Given the description of an element on the screen output the (x, y) to click on. 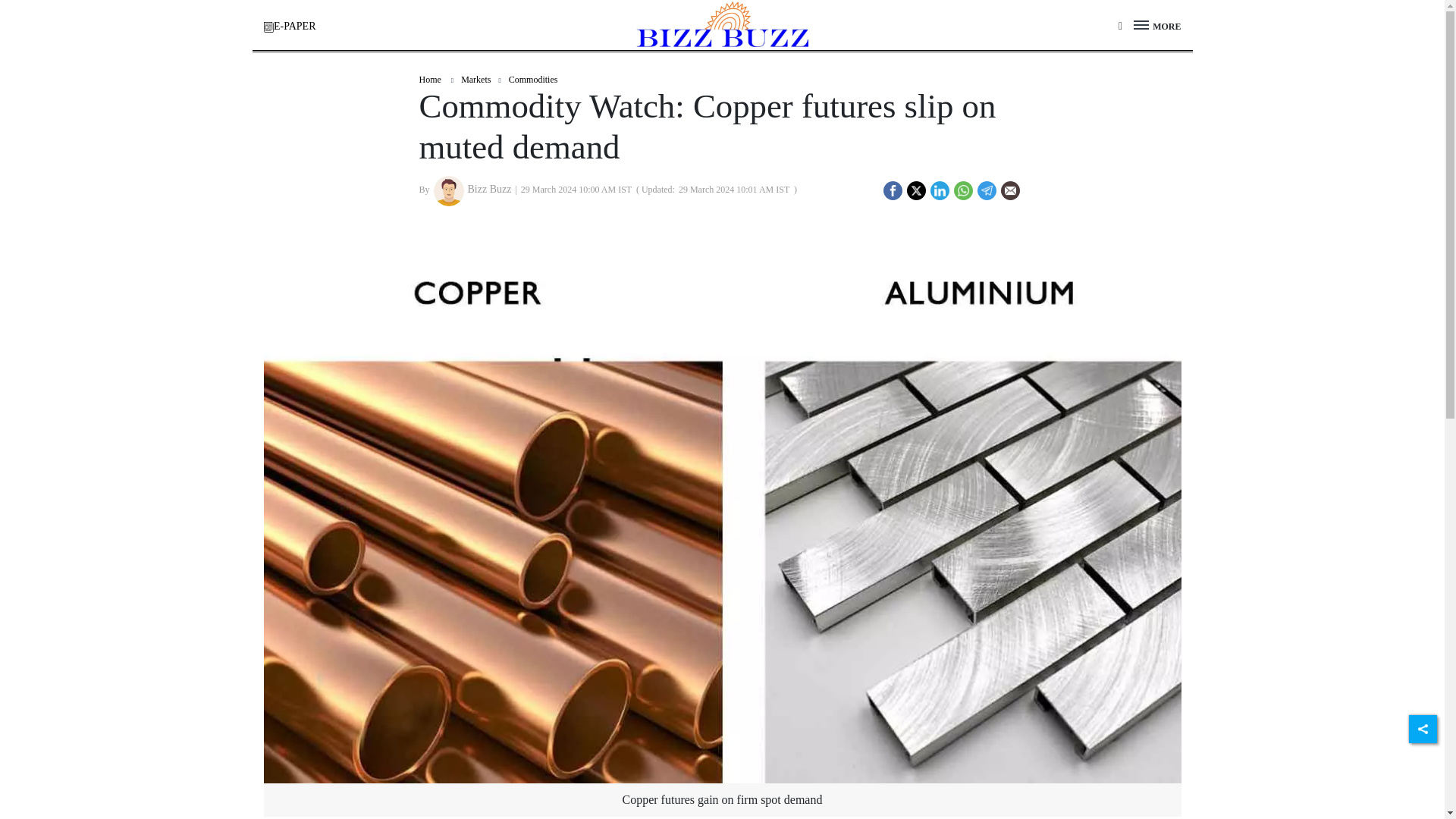
linkedin (939, 190)
Twitter (916, 188)
e-paper (269, 27)
LinkedIn (939, 188)
facebook (892, 190)
Facebook (891, 188)
Email (1010, 189)
Bizz Buzz (448, 191)
whatsapp (962, 190)
BizzBuzz (722, 23)
Share by Email (1010, 192)
twitter (915, 190)
telegram (986, 190)
